Given the description of an element on the screen output the (x, y) to click on. 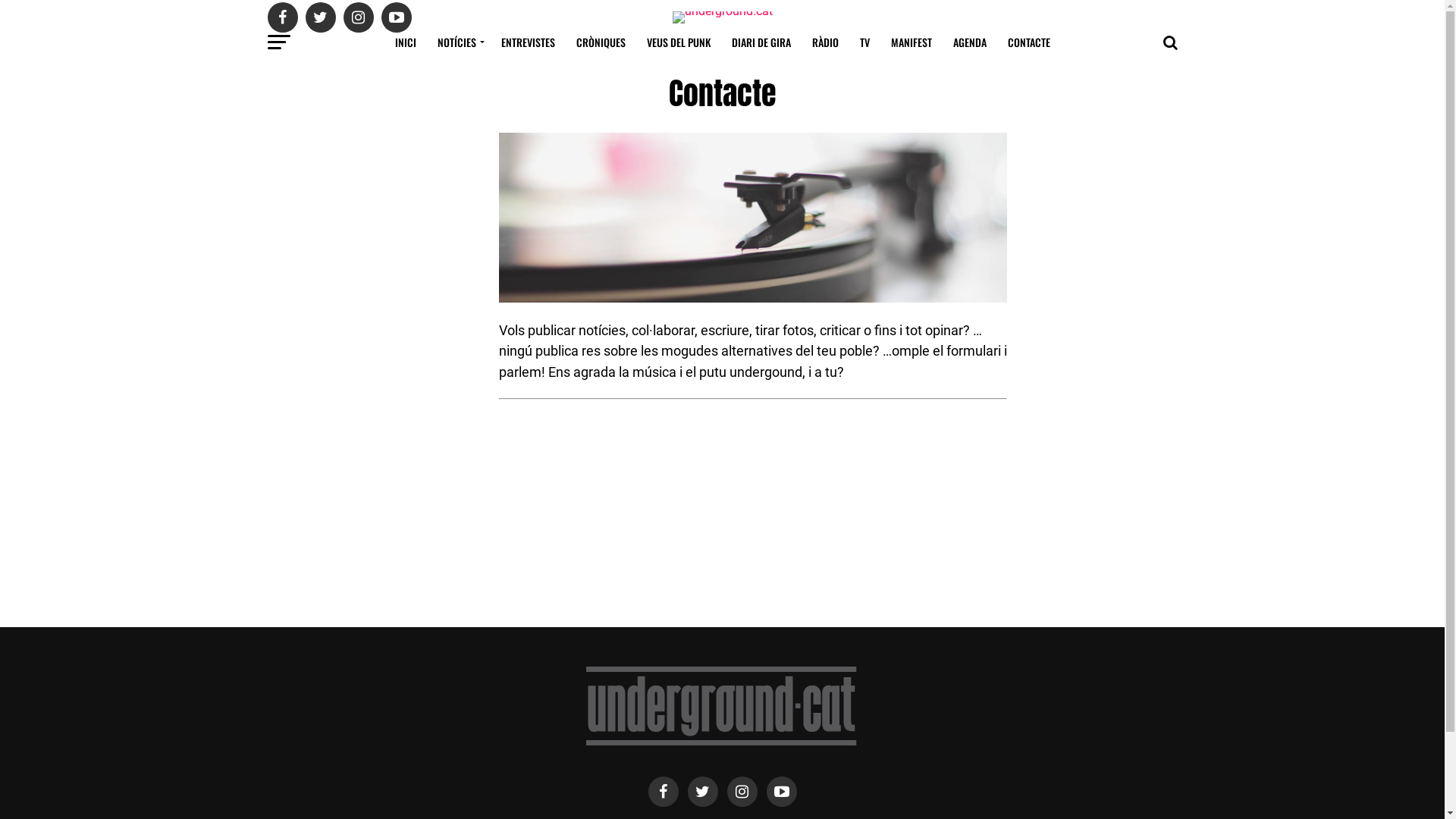
DIARI DE GIRA Element type: text (760, 42)
AGENDA Element type: text (968, 42)
VEUS DEL PUNK Element type: text (677, 42)
CONTACTE Element type: text (1027, 42)
ENTREVISTES Element type: text (527, 42)
INICI Element type: text (404, 42)
MANIFEST Element type: text (910, 42)
TV Element type: text (864, 42)
